Given the description of an element on the screen output the (x, y) to click on. 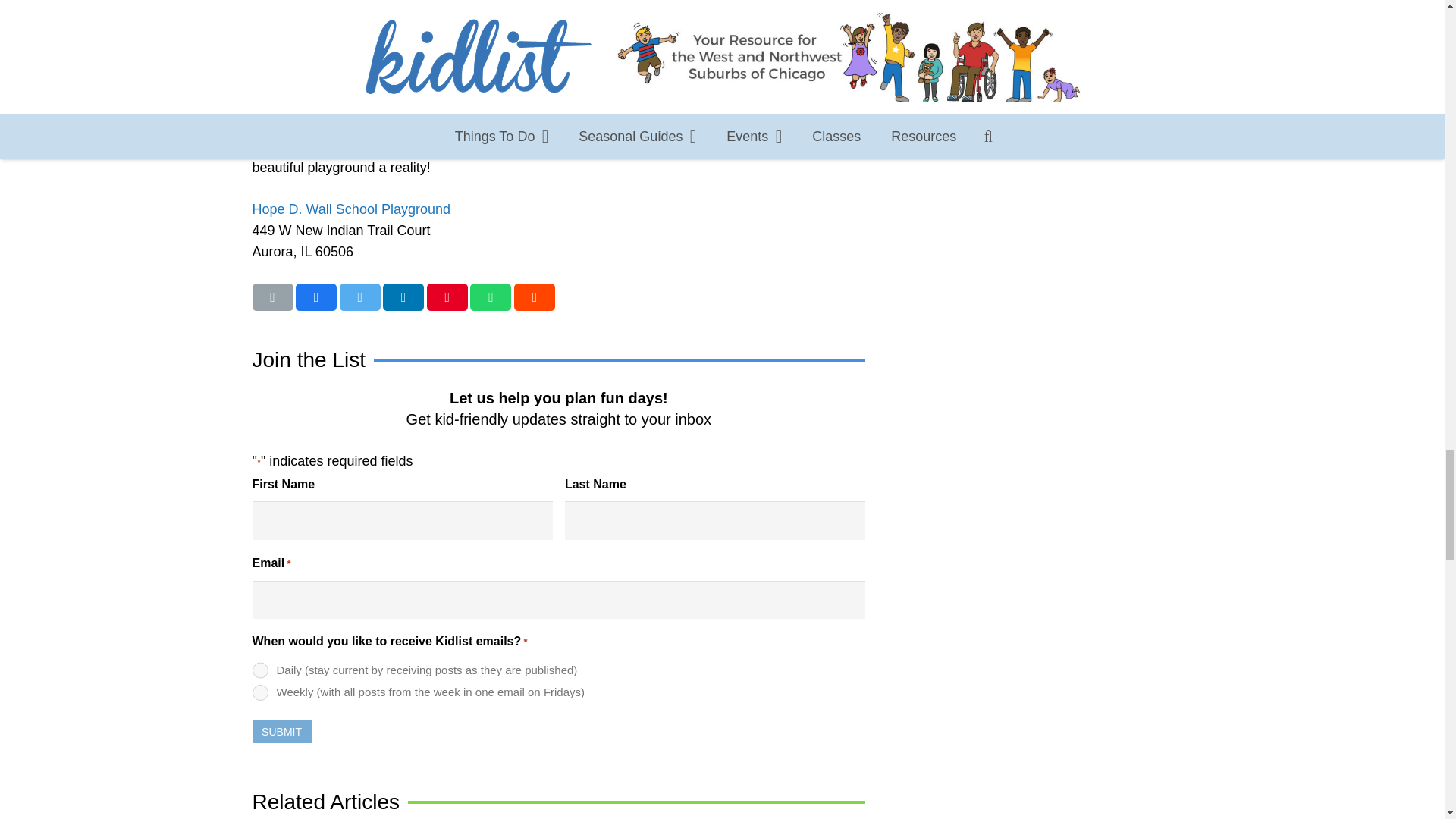
Share this (490, 297)
Share this (402, 297)
Tweet this (359, 297)
Share this (533, 297)
Submit (281, 730)
Email this (271, 297)
Share this (315, 297)
Pin this (446, 297)
